Given the description of an element on the screen output the (x, y) to click on. 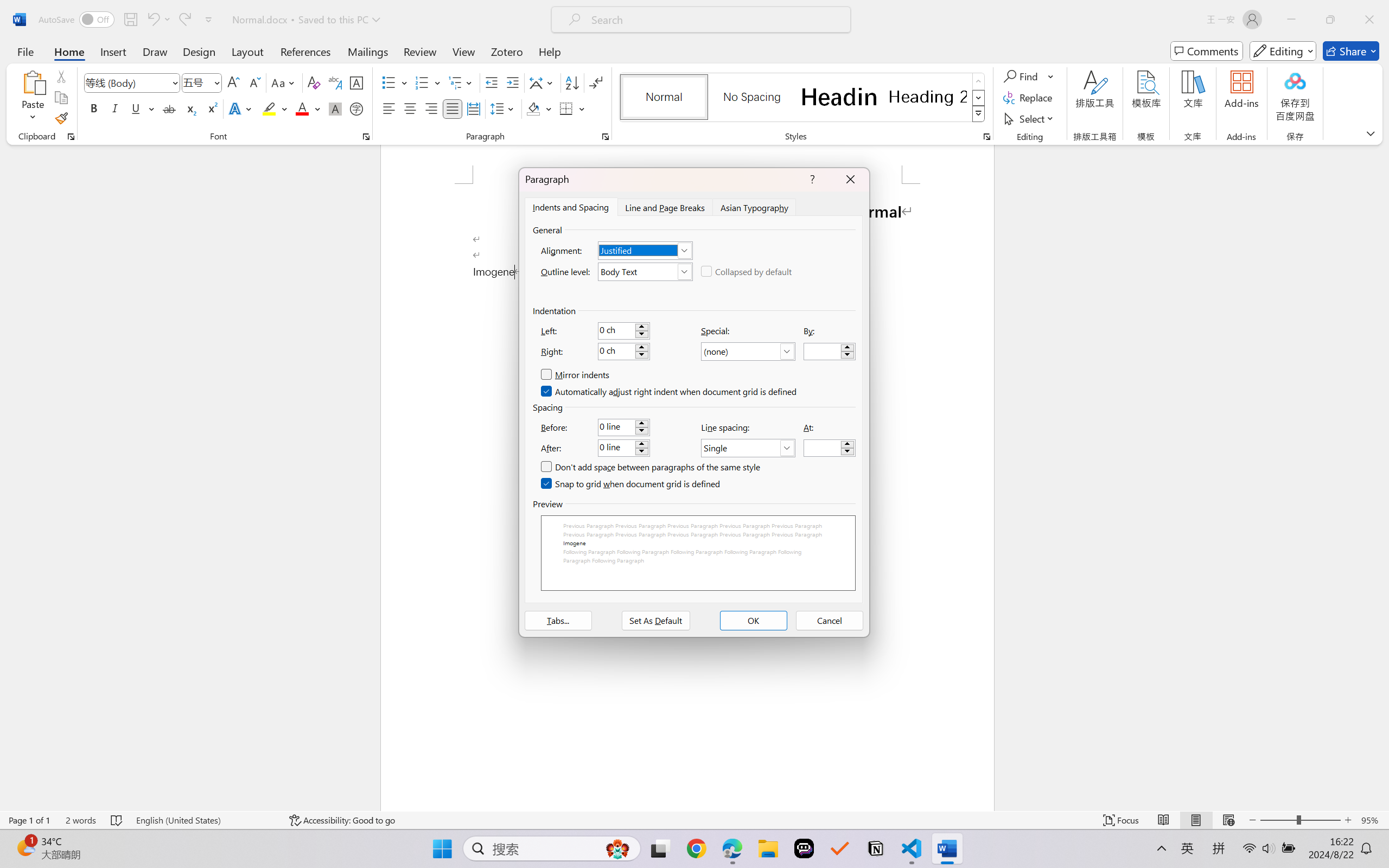
Accessibility Checker Accessibility: Good to go (208, 837)
